Given the description of an element on the screen output the (x, y) to click on. 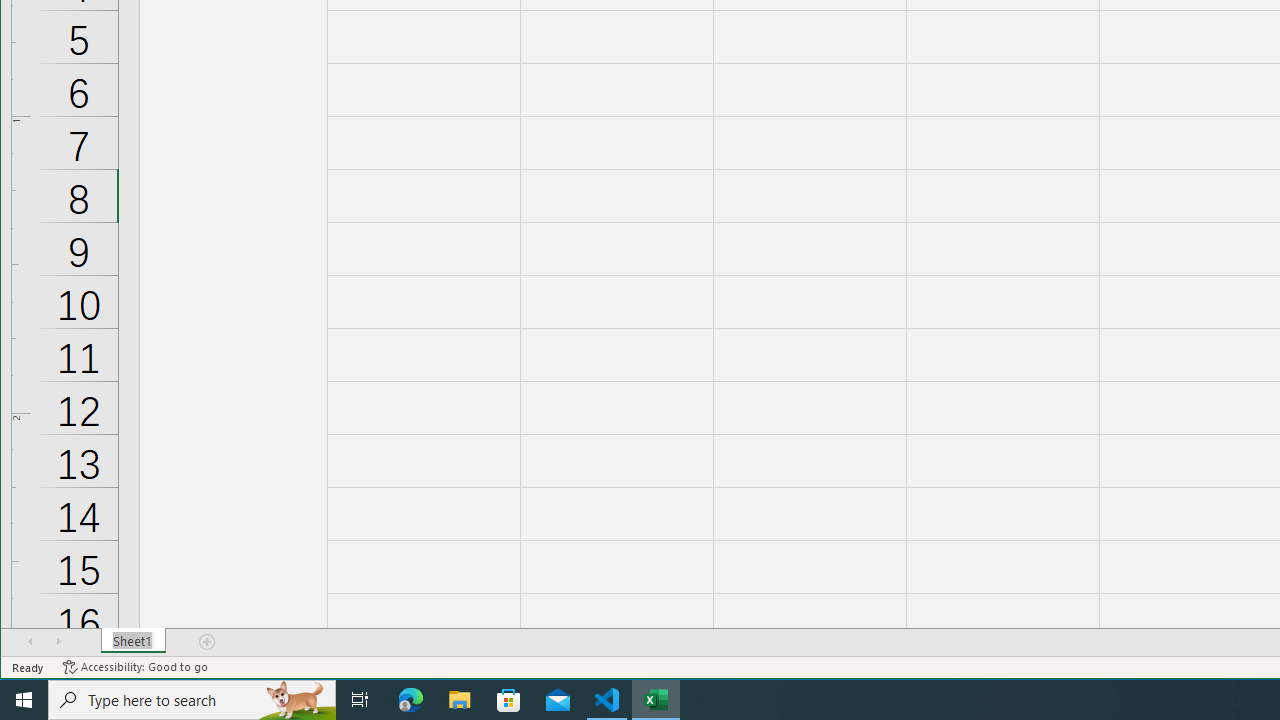
Start (24, 699)
